Given the description of an element on the screen output the (x, y) to click on. 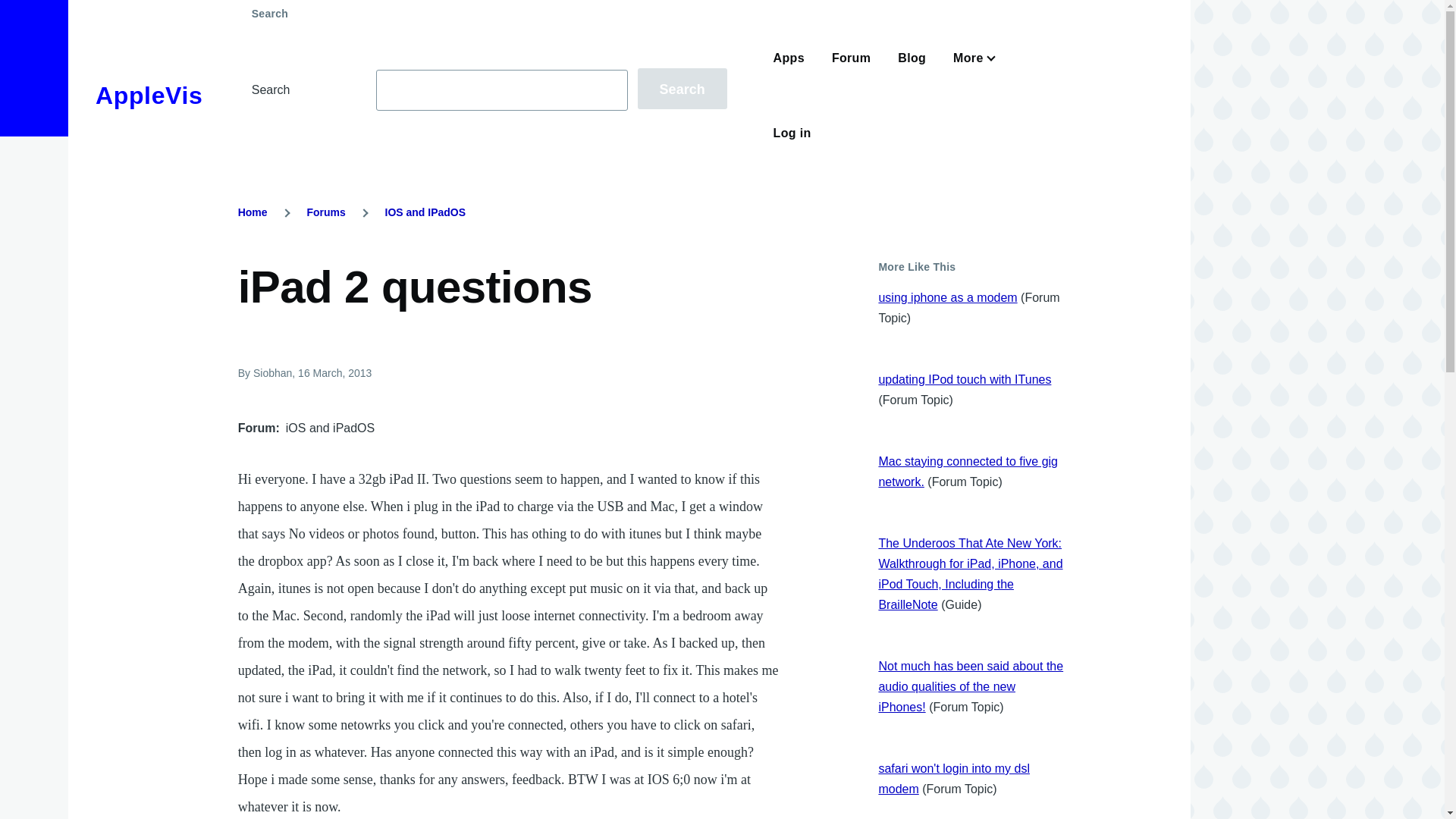
Home (149, 94)
Home (252, 212)
IOS and IPadOS (425, 212)
safari won't login into my dsl modem (953, 778)
using iphone as a modem (946, 297)
Forums (325, 212)
Mac staying connected to five gig network. (967, 471)
AppleVis (149, 94)
updating IPod touch with ITunes (964, 379)
Search (681, 87)
Skip to main content (595, 6)
Search (681, 87)
